Given the description of an element on the screen output the (x, y) to click on. 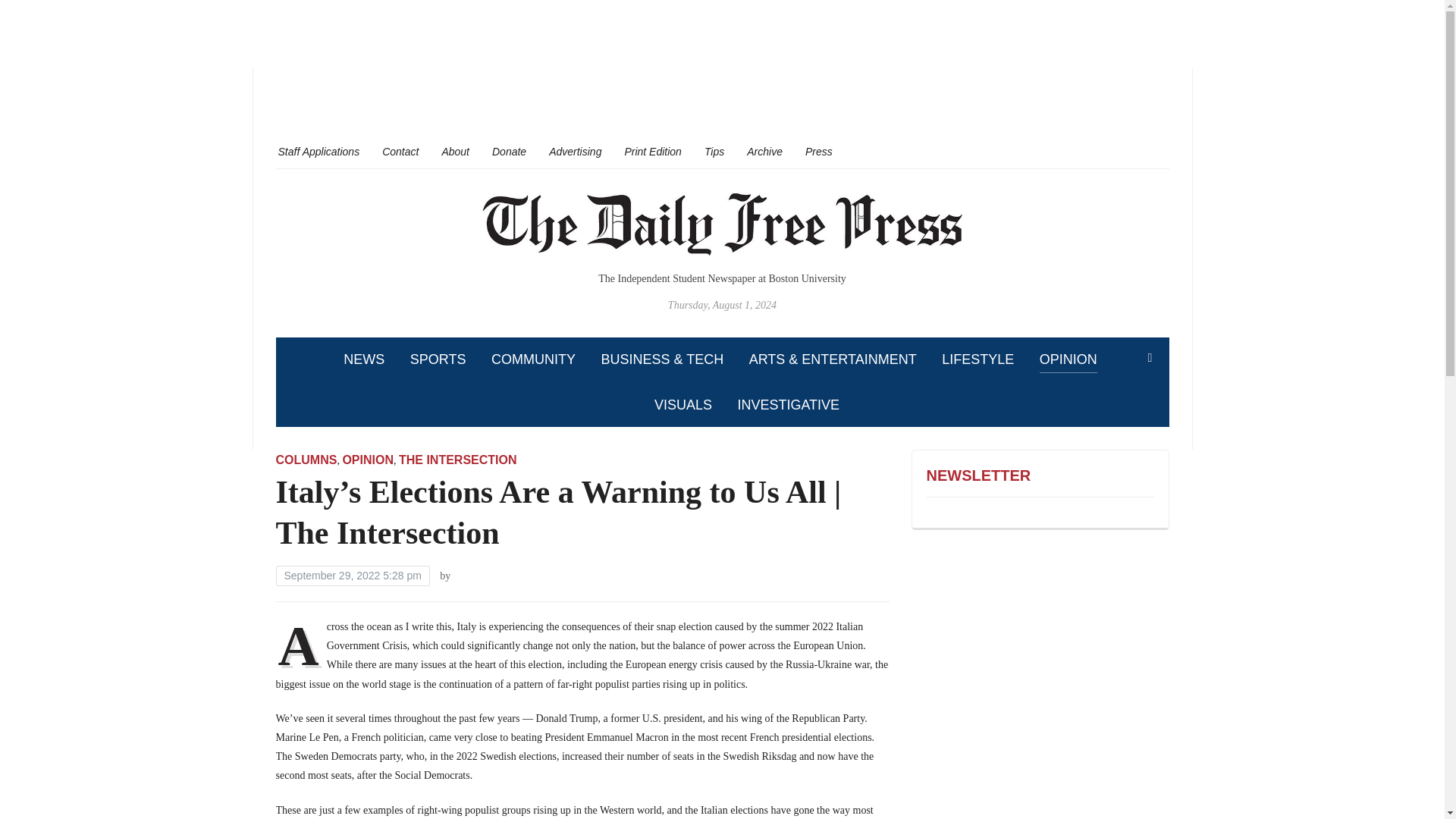
Staff Applications (318, 150)
Archive (764, 150)
Contact (400, 150)
Donate (508, 150)
About (454, 150)
Search (1149, 358)
Press (818, 150)
Print Edition (652, 150)
Advertising (574, 150)
